Given the description of an element on the screen output the (x, y) to click on. 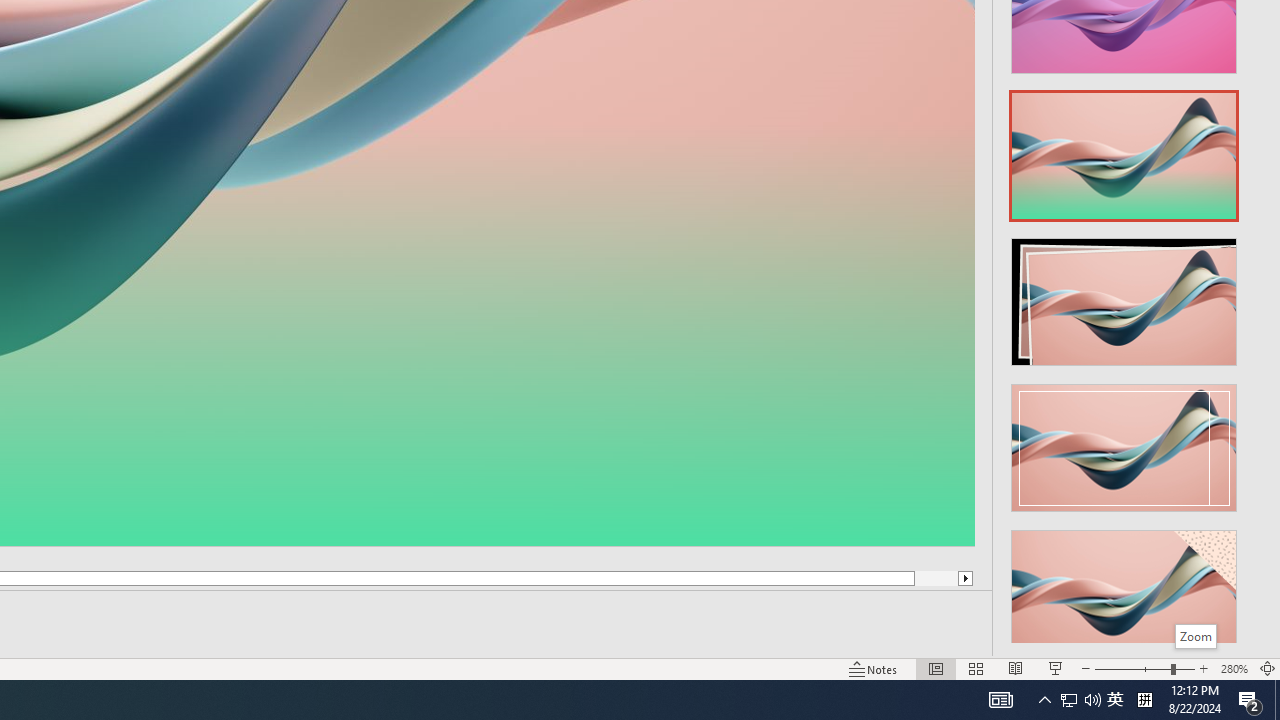
Zoom 280% (1234, 668)
Design Idea (1124, 587)
